Given the description of an element on the screen output the (x, y) to click on. 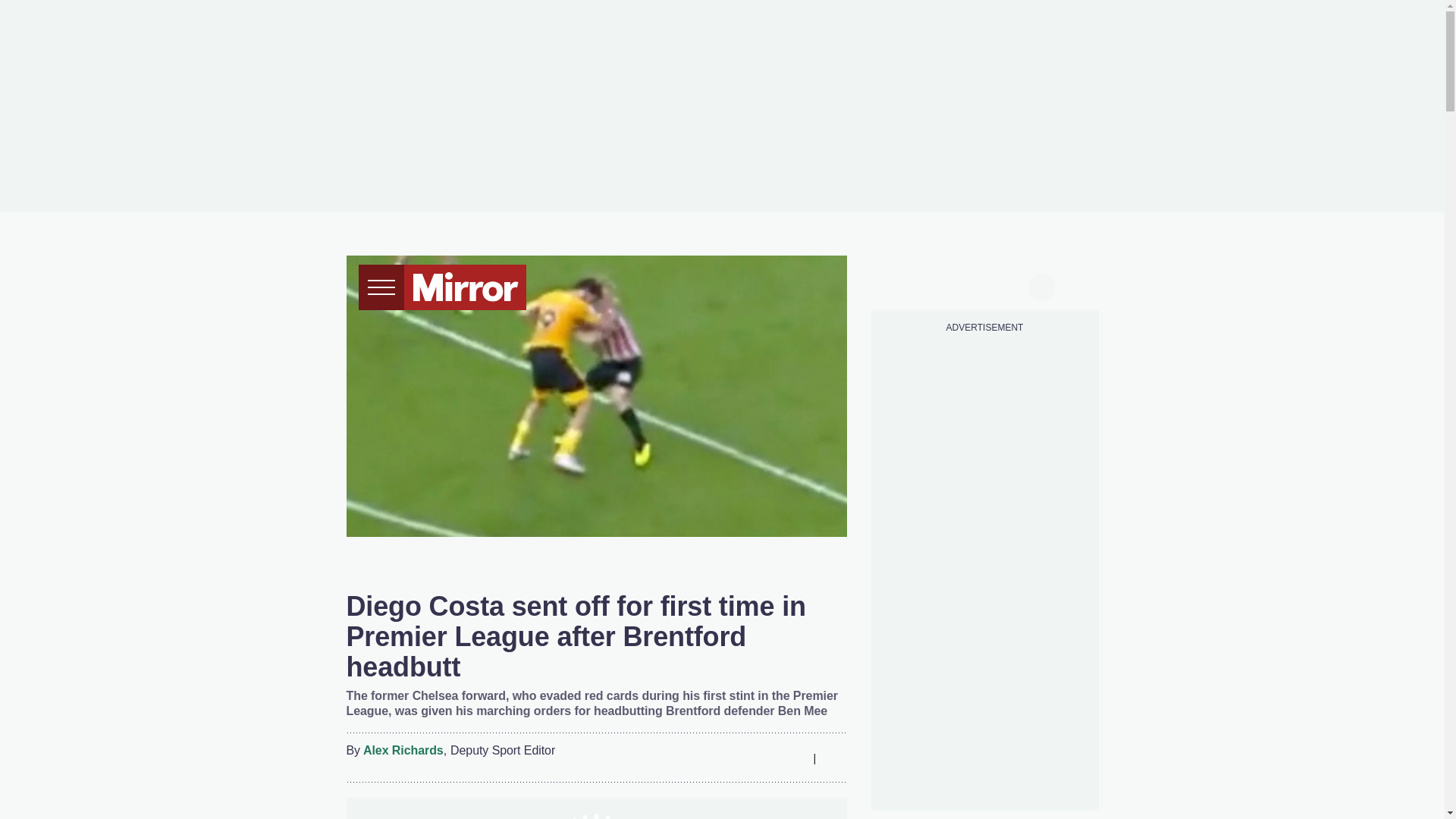
Twitter (733, 757)
tiktok (955, 285)
snapchat (1012, 285)
Whatsapp (763, 757)
facebook (897, 285)
Facebook (702, 757)
Comments (834, 757)
Alex Richards (403, 750)
twitter (926, 285)
instagram (984, 285)
